Given the description of an element on the screen output the (x, y) to click on. 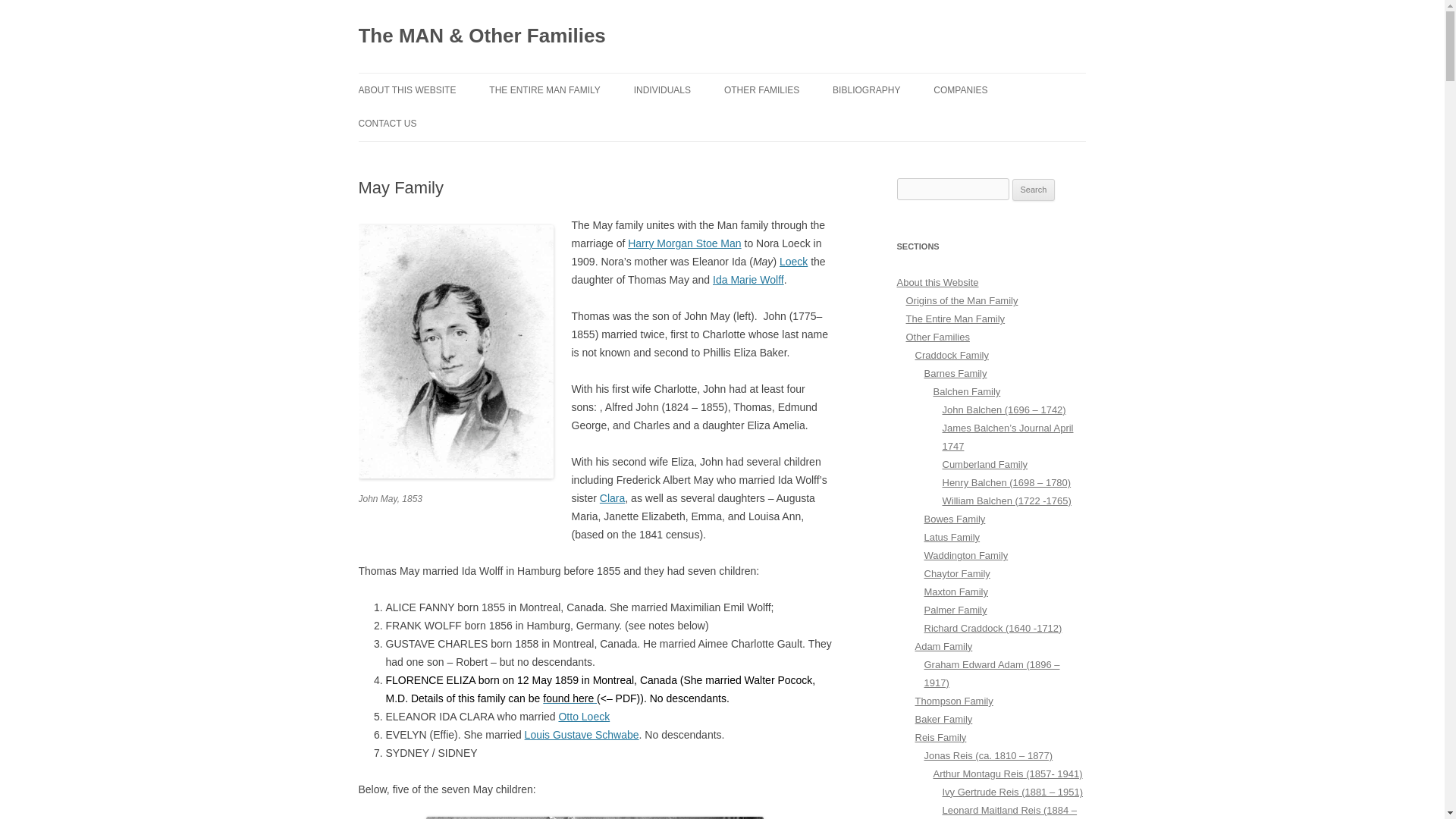
INDIVIDUALS (661, 90)
Loeck Family (583, 716)
Harry Morgan Stoe Man (684, 243)
Search (1033, 190)
COMPANIES (960, 90)
Loeck (793, 261)
ORIGINS OF THE MAN FAMILY (433, 122)
CONTACT US (387, 123)
ABOUT THIS WEBSITE (406, 90)
OTHER FAMILIES (761, 90)
found here (568, 698)
Loeck Family (793, 261)
Ida Marie Wolff (748, 279)
Louis Gustave Schwabe (581, 734)
